Given the description of an element on the screen output the (x, y) to click on. 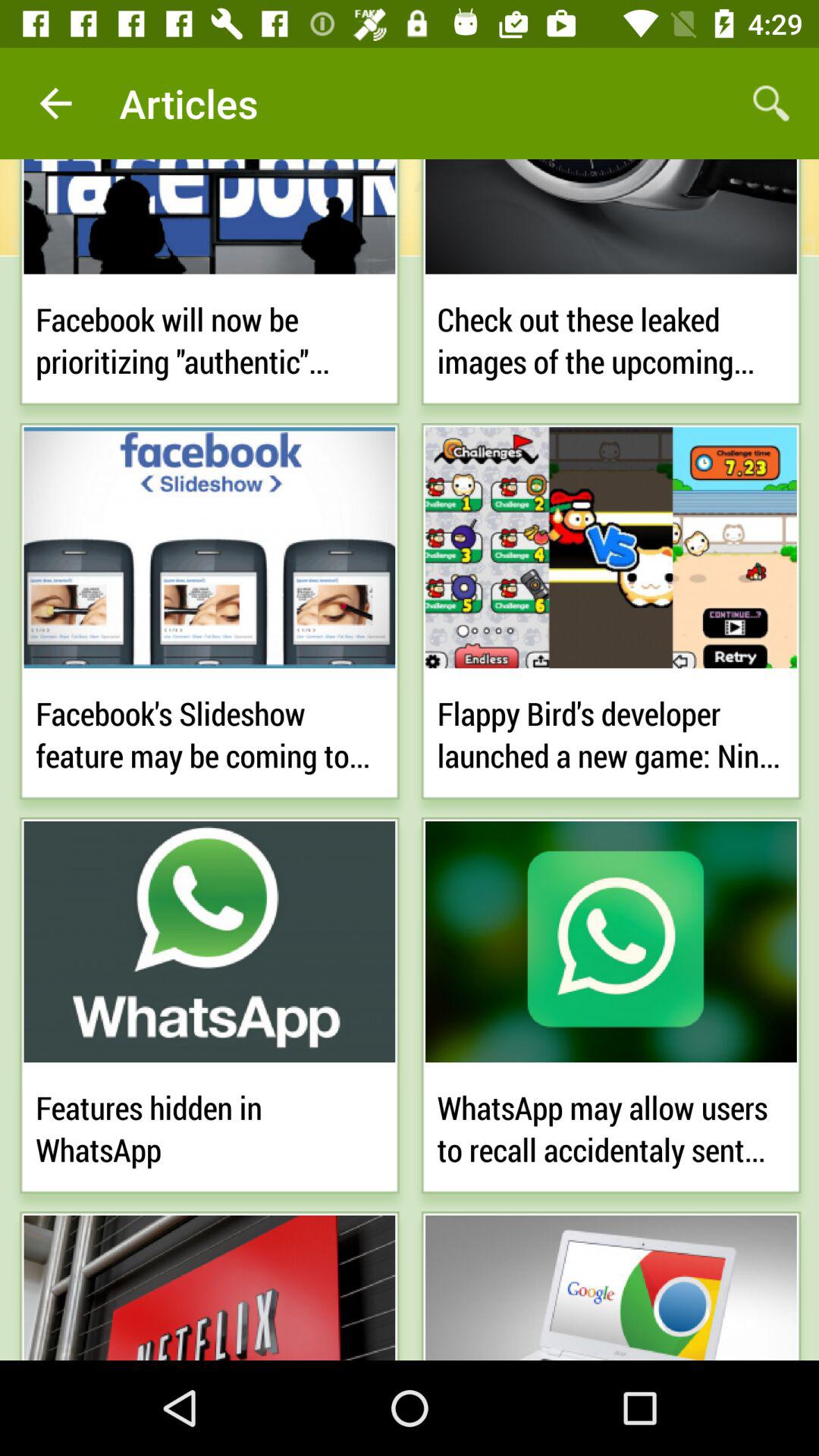
launch the flappy bird s item (610, 731)
